Given the description of an element on the screen output the (x, y) to click on. 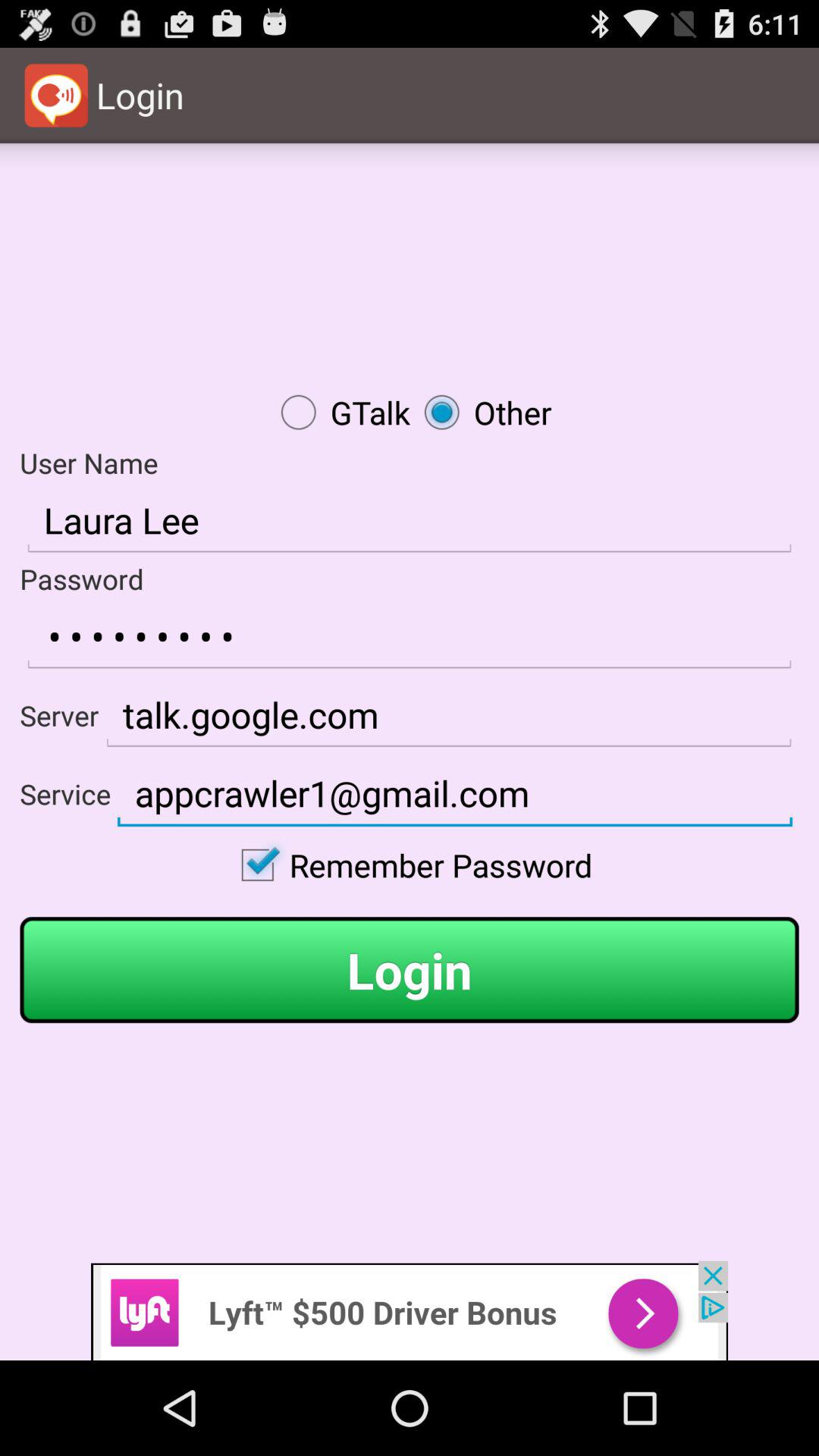
lyft 500 driver bonus (409, 1310)
